Given the description of an element on the screen output the (x, y) to click on. 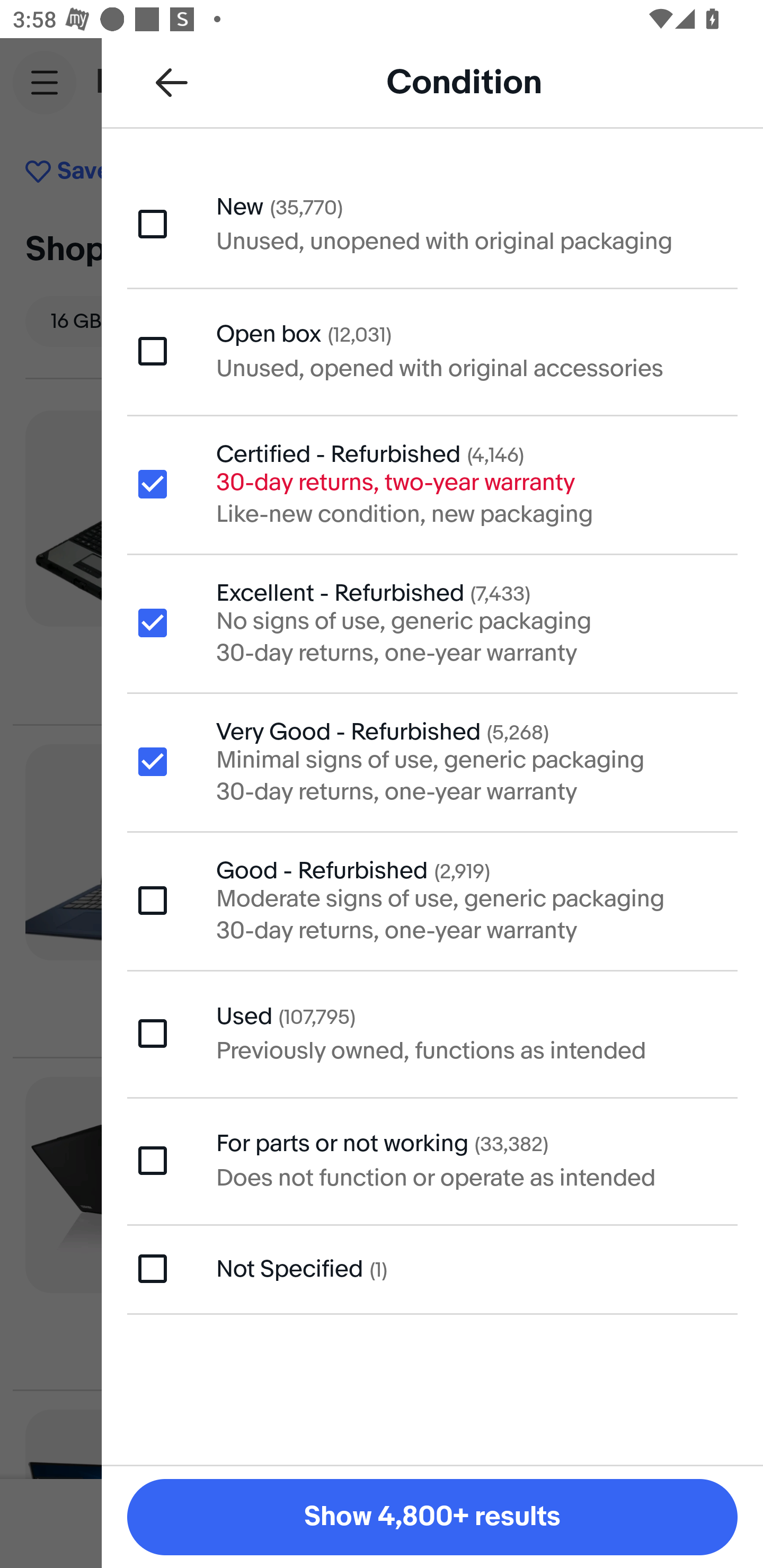
Back to all refinements (171, 81)
Not Specified (1) (432, 1268)
Show 4,800+ results (432, 1516)
